Given the description of an element on the screen output the (x, y) to click on. 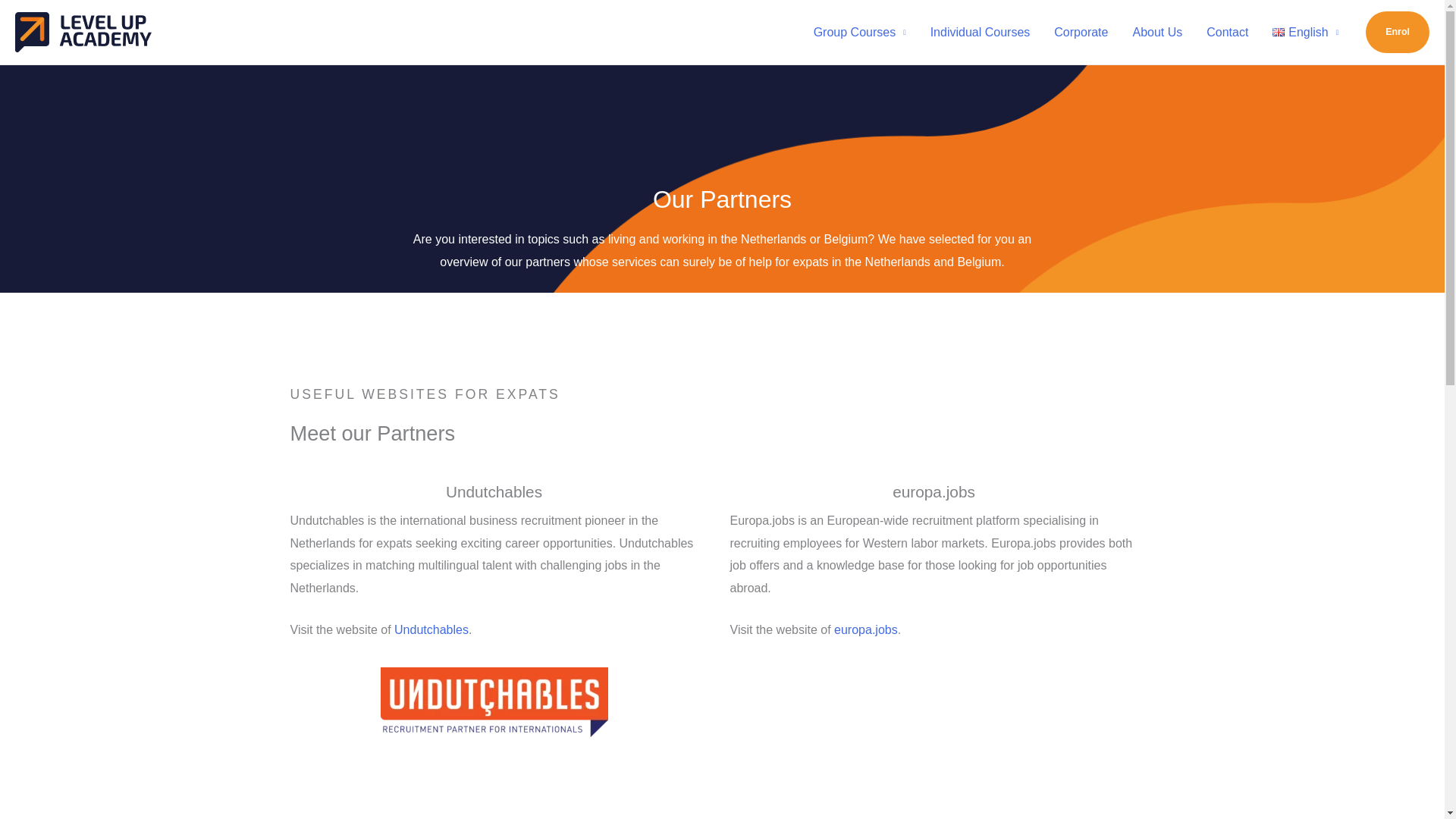
Group Courses (860, 31)
English (1305, 31)
europa.jobs (866, 629)
Enrol (1397, 32)
Corporate (1080, 31)
Undutchables (431, 629)
About Us (1156, 31)
Individual Courses (980, 31)
Contact (1226, 31)
